Given the description of an element on the screen output the (x, y) to click on. 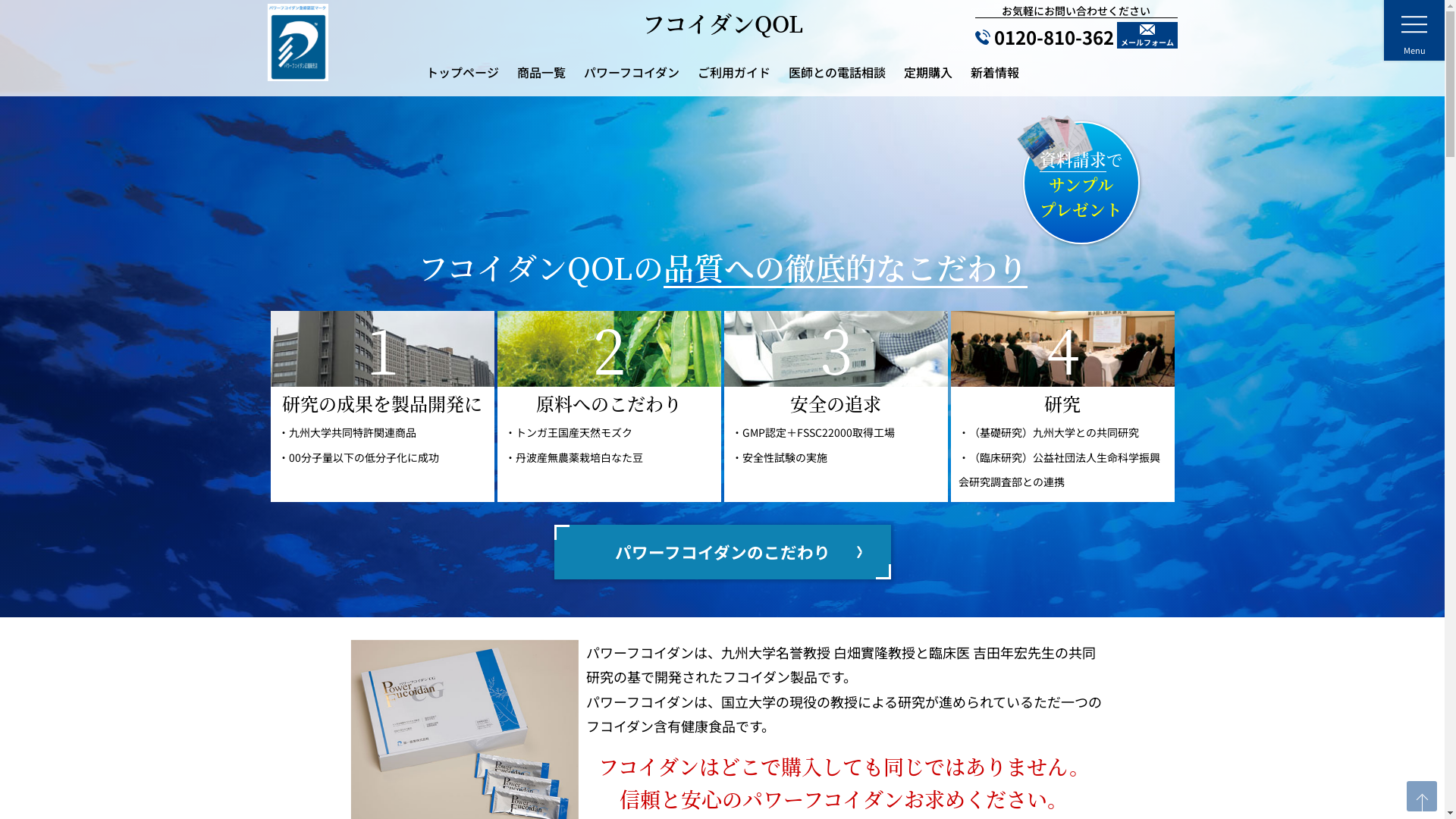
0120-810-362 Element type: text (1044, 37)
